Given the description of an element on the screen output the (x, y) to click on. 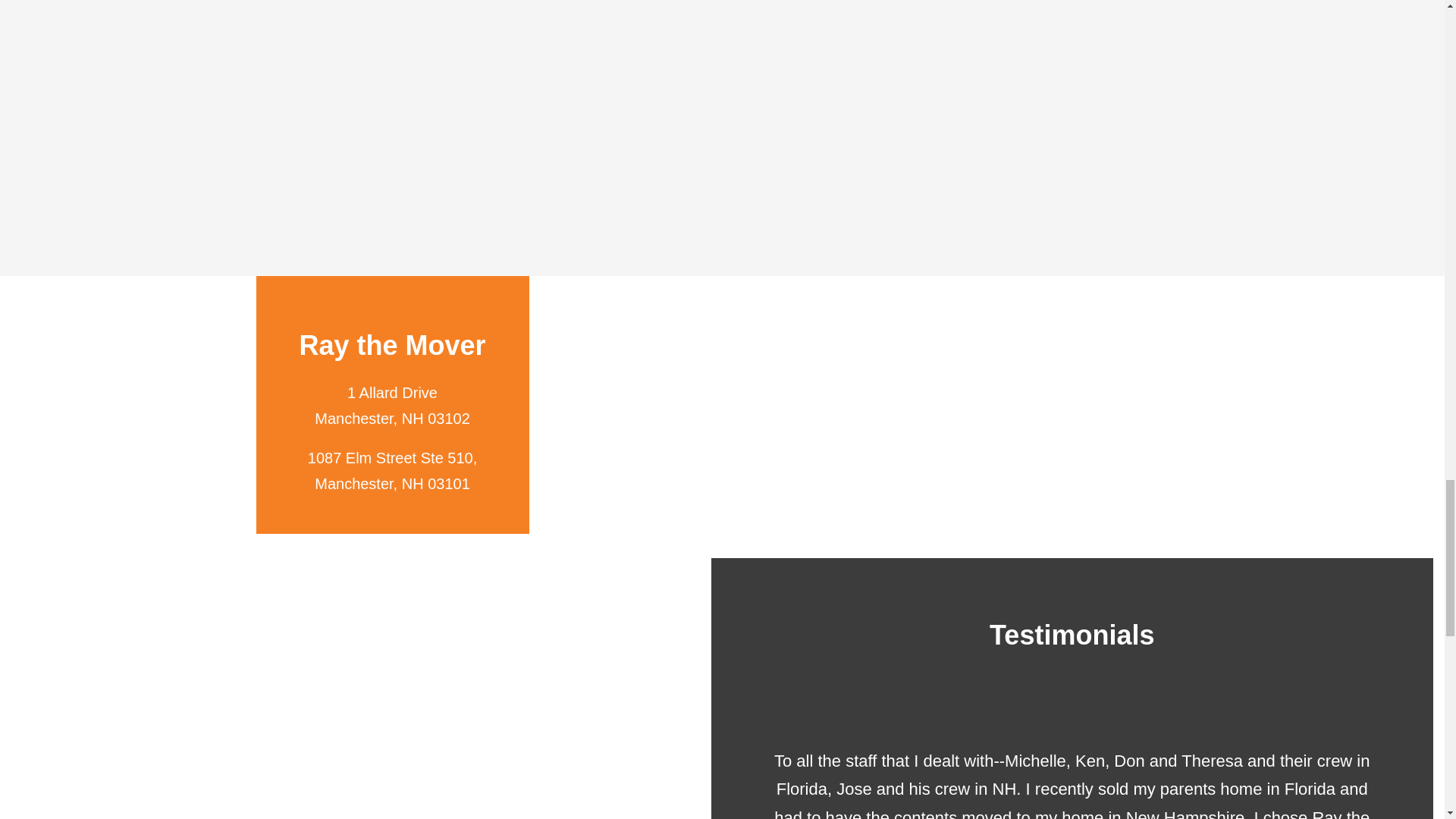
BOB-awards-2024 (827, 120)
award-02 (360, 120)
BOBlogo2021-feature-121-128 (594, 158)
